Given the description of an element on the screen output the (x, y) to click on. 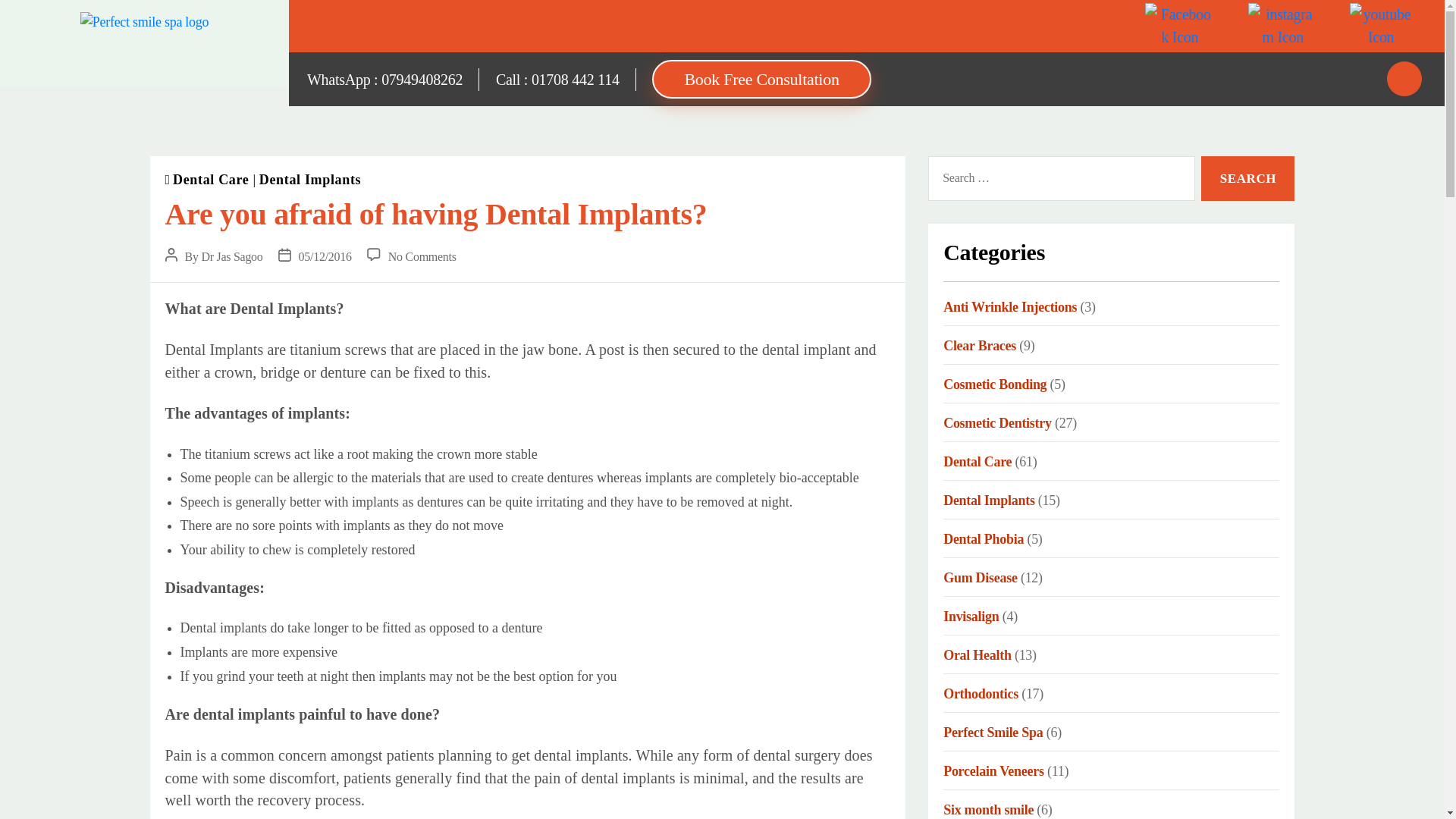
07949408262 (422, 79)
Search (1247, 178)
Search (1247, 178)
01708 442 114 (575, 79)
Book Free Consultation (761, 78)
